Given the description of an element on the screen output the (x, y) to click on. 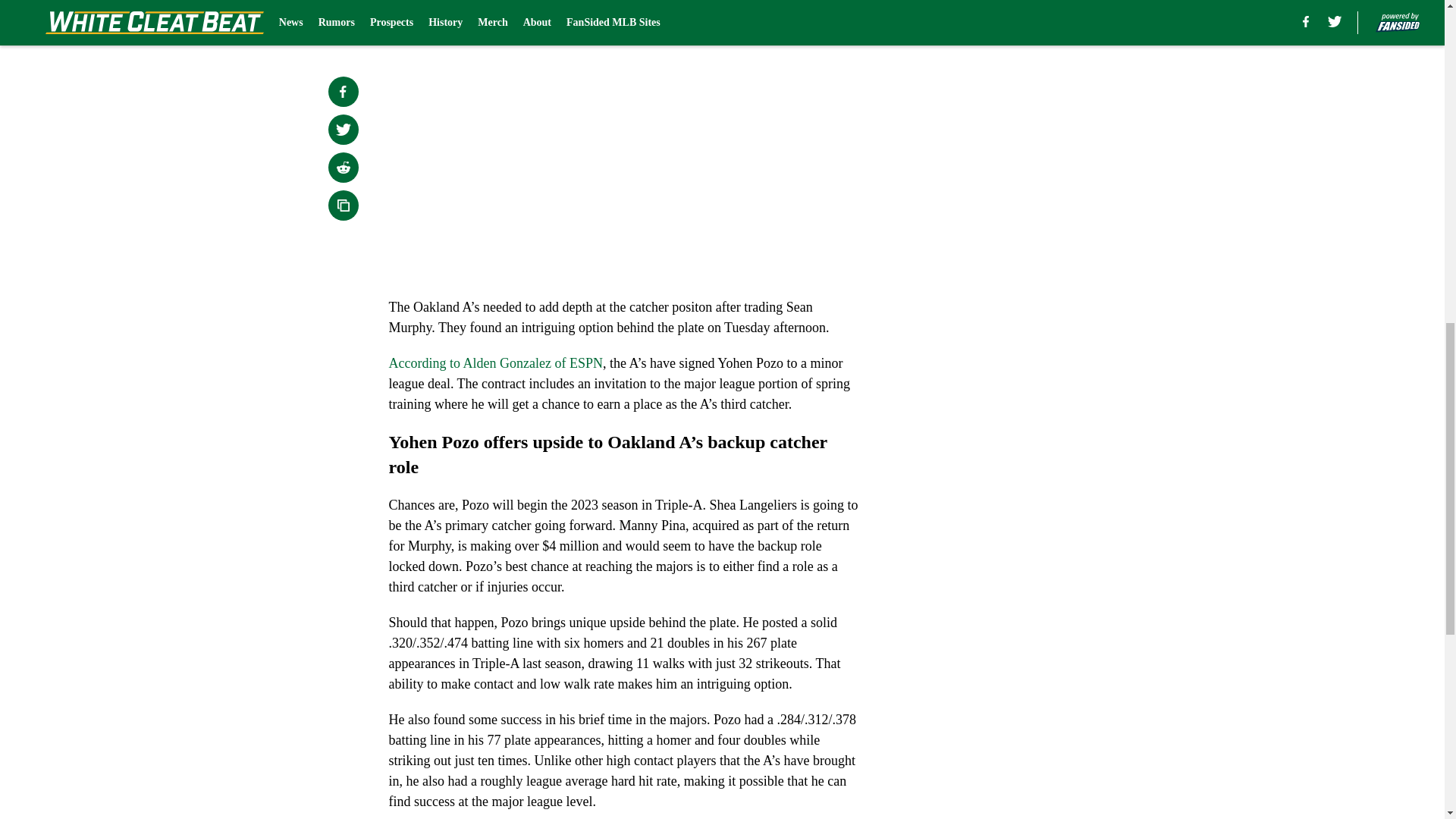
According to Alden Gonzalez of ESPN (495, 363)
